Given the description of an element on the screen output the (x, y) to click on. 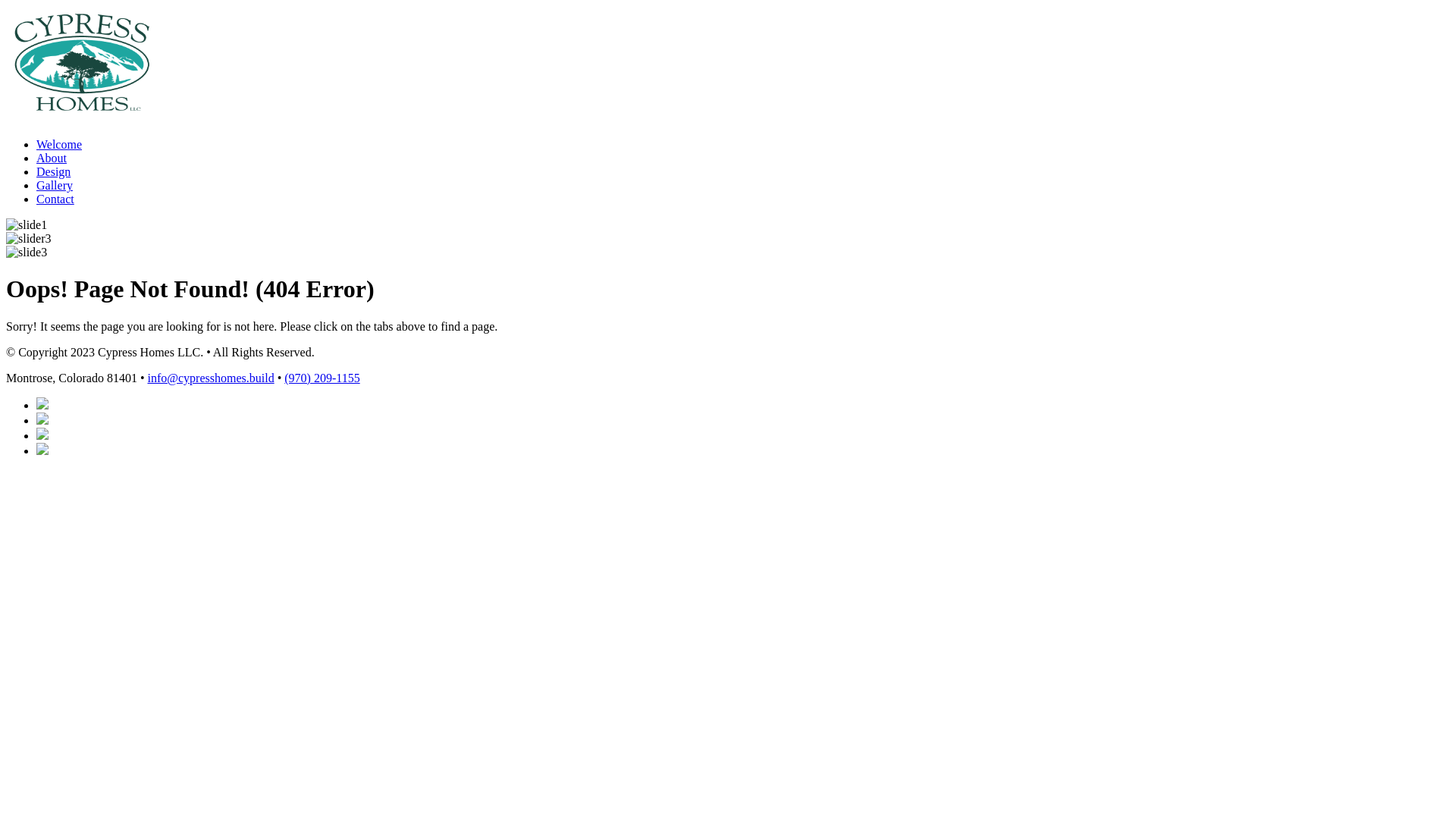
Design Element type: text (53, 171)
Welcome Element type: text (58, 144)
Contact Element type: text (55, 198)
info@cypresshomes.build Element type: text (210, 377)
About Element type: text (51, 157)
Gallery Element type: text (54, 184)
(970) 209-1155 Element type: text (321, 377)
